Given the description of an element on the screen output the (x, y) to click on. 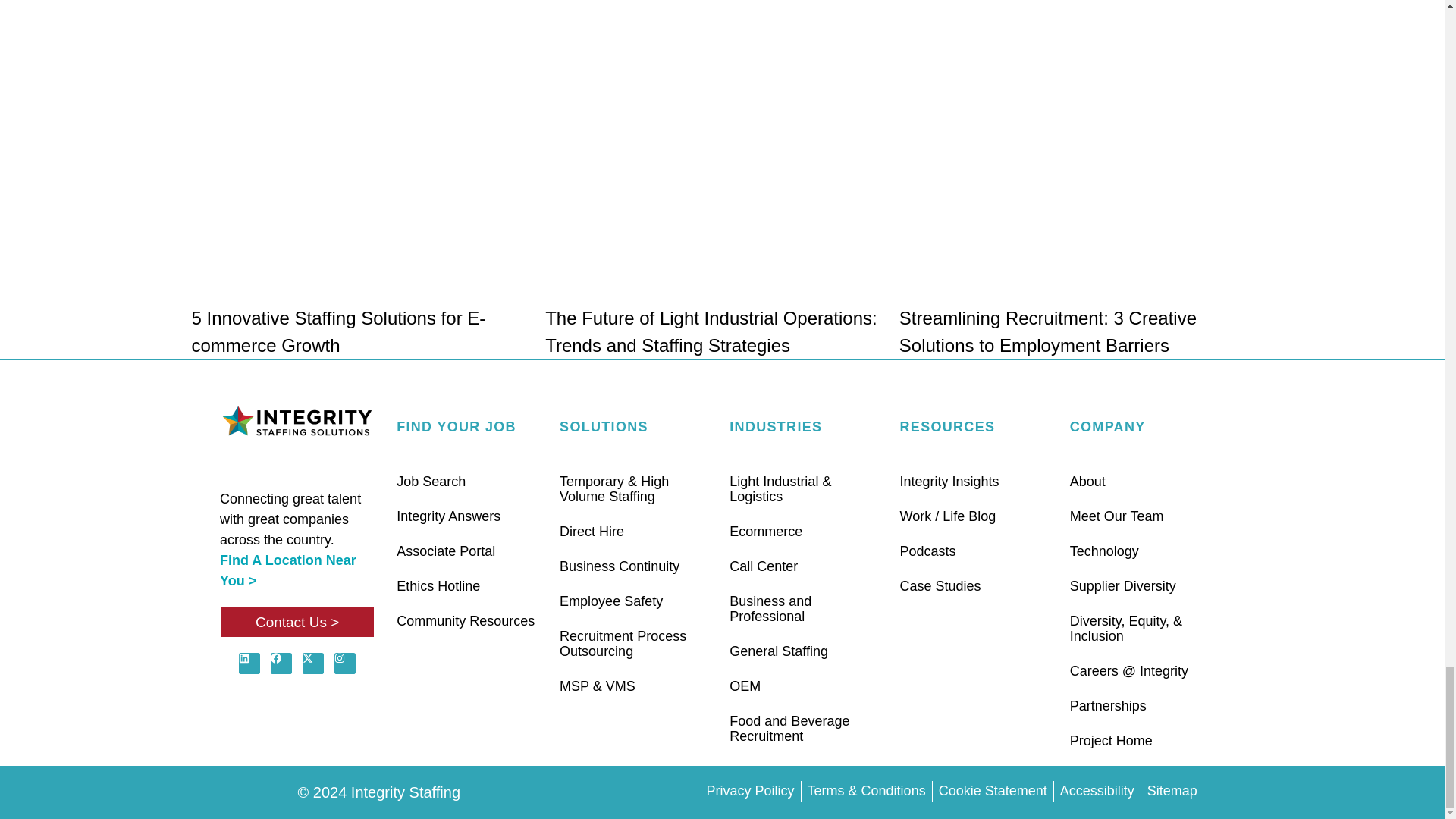
Location (287, 570)
